Given the description of an element on the screen output the (x, y) to click on. 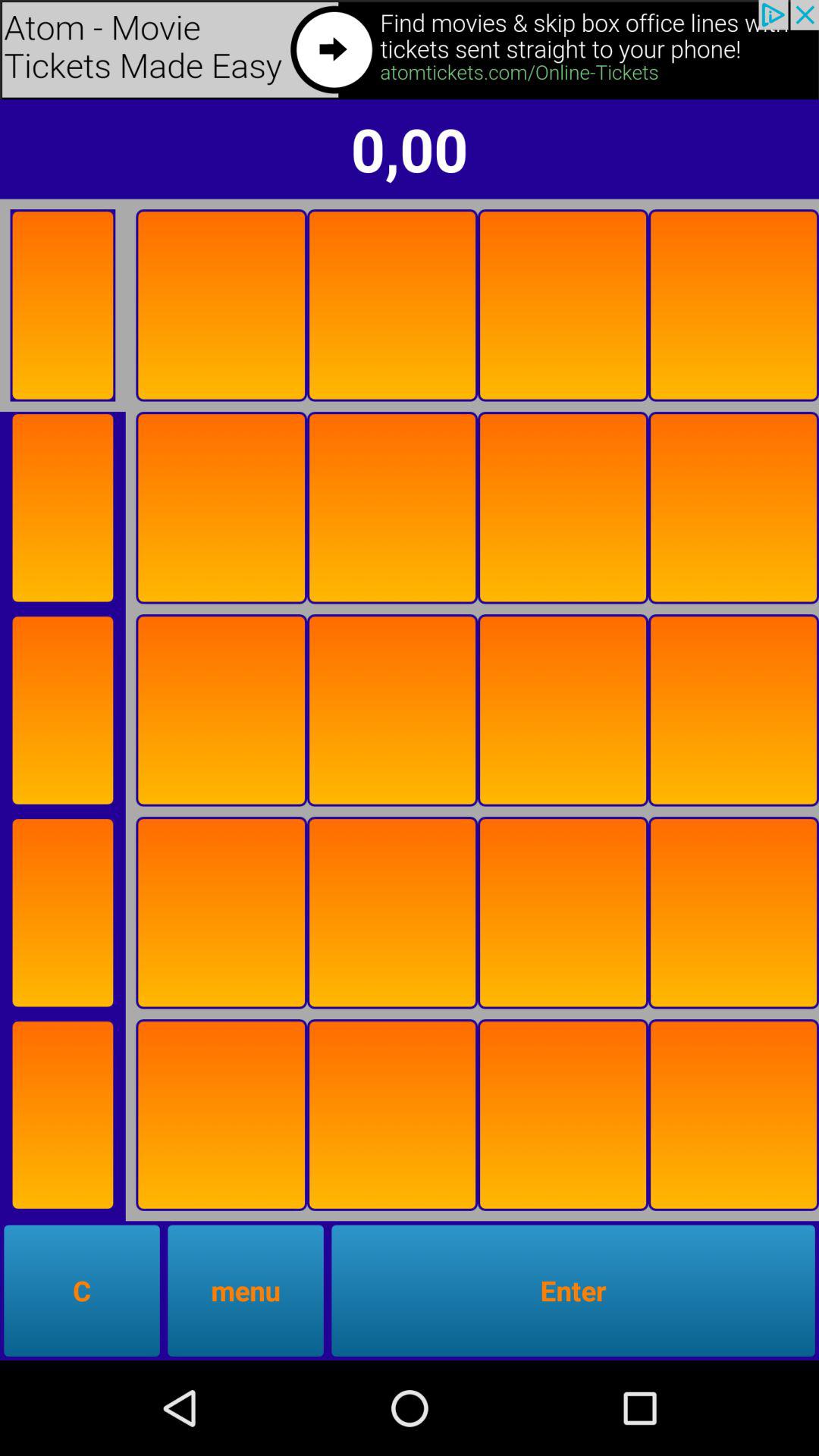
go to atomtickets.com (409, 49)
